Given the description of an element on the screen output the (x, y) to click on. 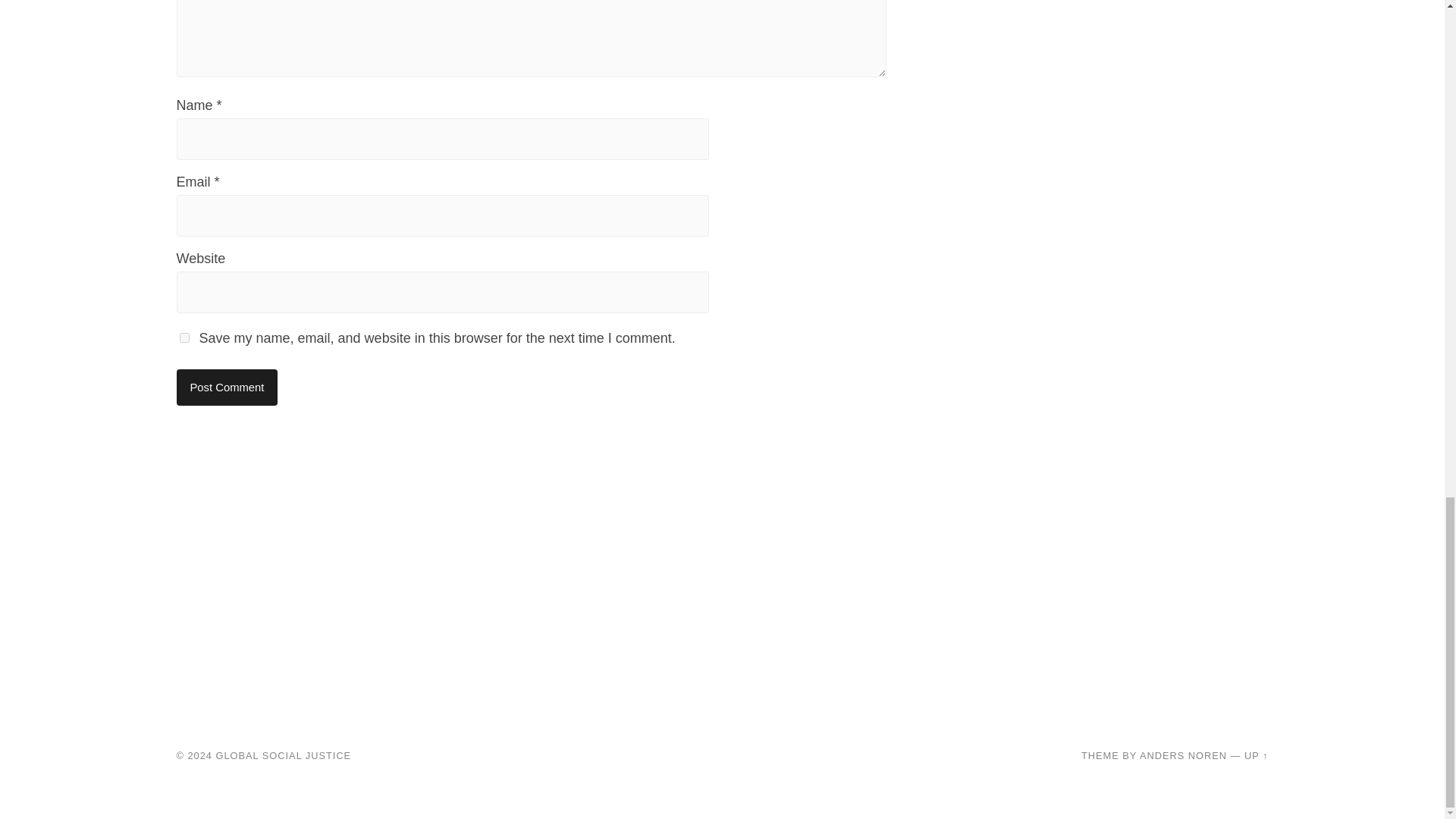
Global Social Justice (283, 755)
To the top (1256, 755)
Post Comment (227, 387)
yes (184, 337)
Post Comment (227, 387)
